Given the description of an element on the screen output the (x, y) to click on. 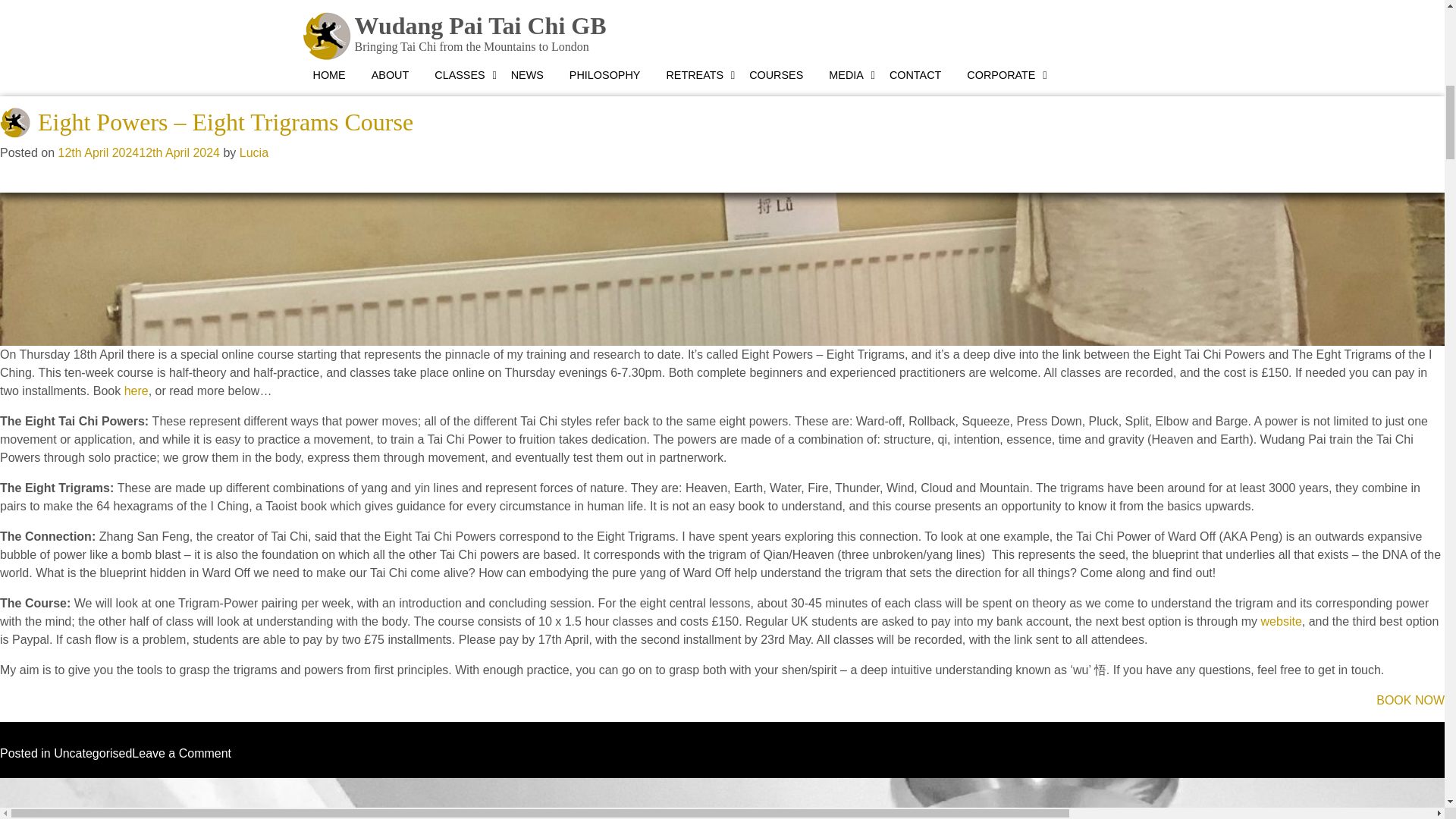
I am Officially a Wudang Master! (201, 803)
here (135, 390)
BOOK NOW (1409, 699)
Uncategorised (92, 753)
website (1280, 621)
